Given the description of an element on the screen output the (x, y) to click on. 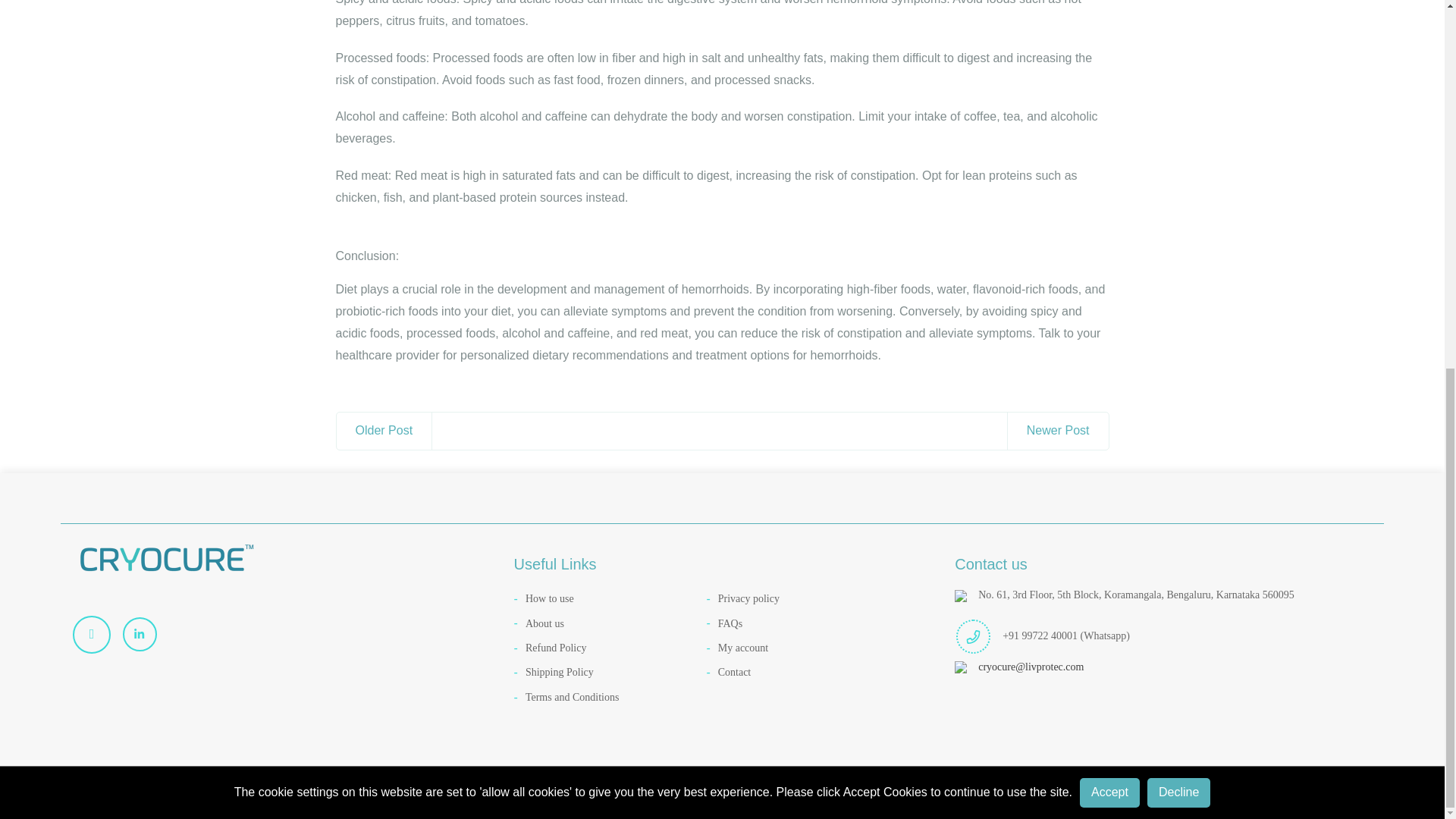
Privacy policy (802, 598)
Newer Post (1057, 430)
Decline (1178, 125)
Contact (802, 672)
Accept (1110, 125)
Shipping Policy (609, 672)
Refund Policy (609, 648)
Terms and Conditions (609, 697)
How to use (609, 598)
FAQs (802, 624)
YouTube (97, 634)
Linkedin (146, 633)
Older Post (384, 430)
My account (802, 648)
About us (609, 624)
